Given the description of an element on the screen output the (x, y) to click on. 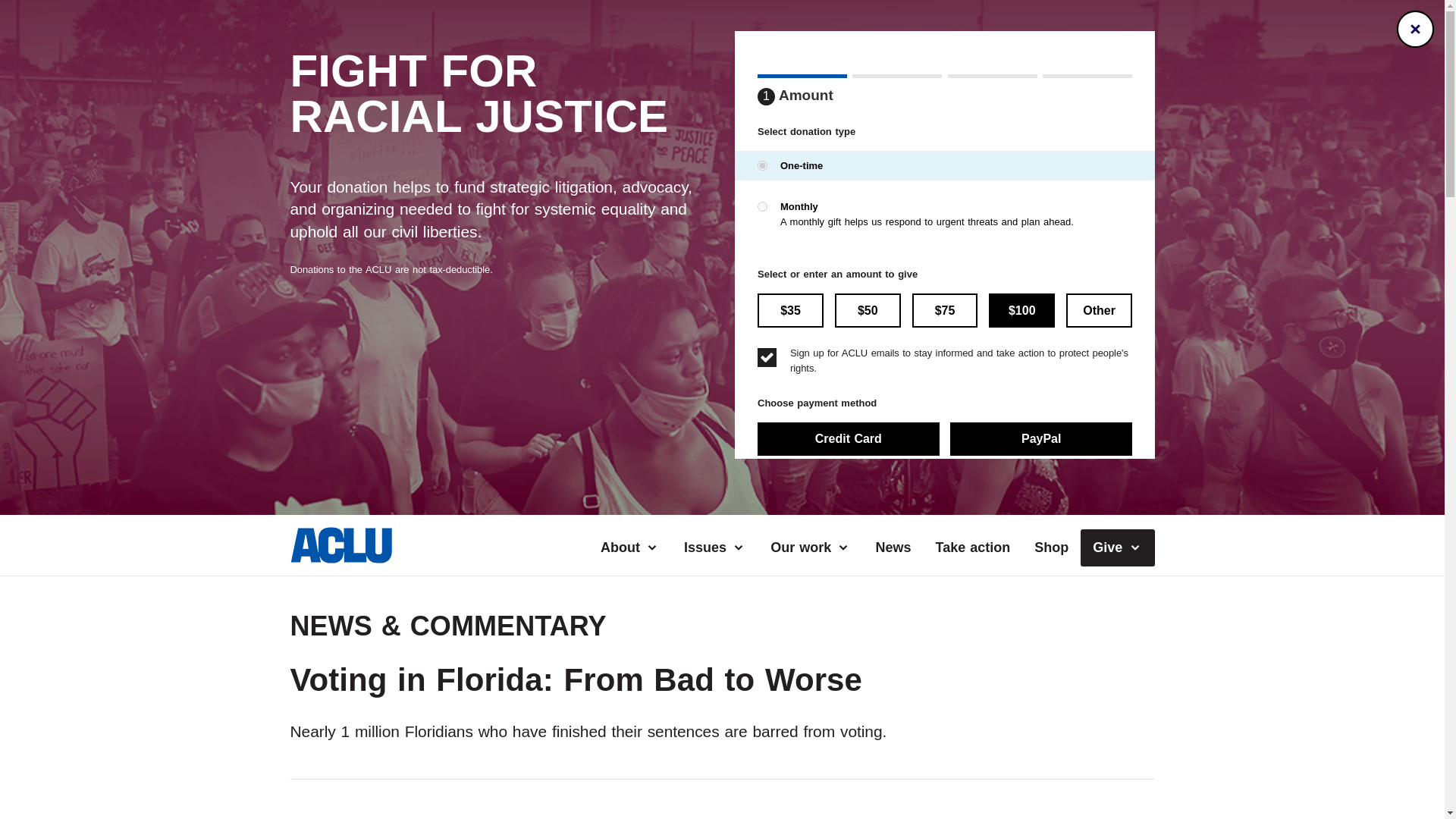
ACLU.org (340, 558)
Issues (714, 547)
Our work (810, 547)
About (629, 547)
News (893, 547)
